Given the description of an element on the screen output the (x, y) to click on. 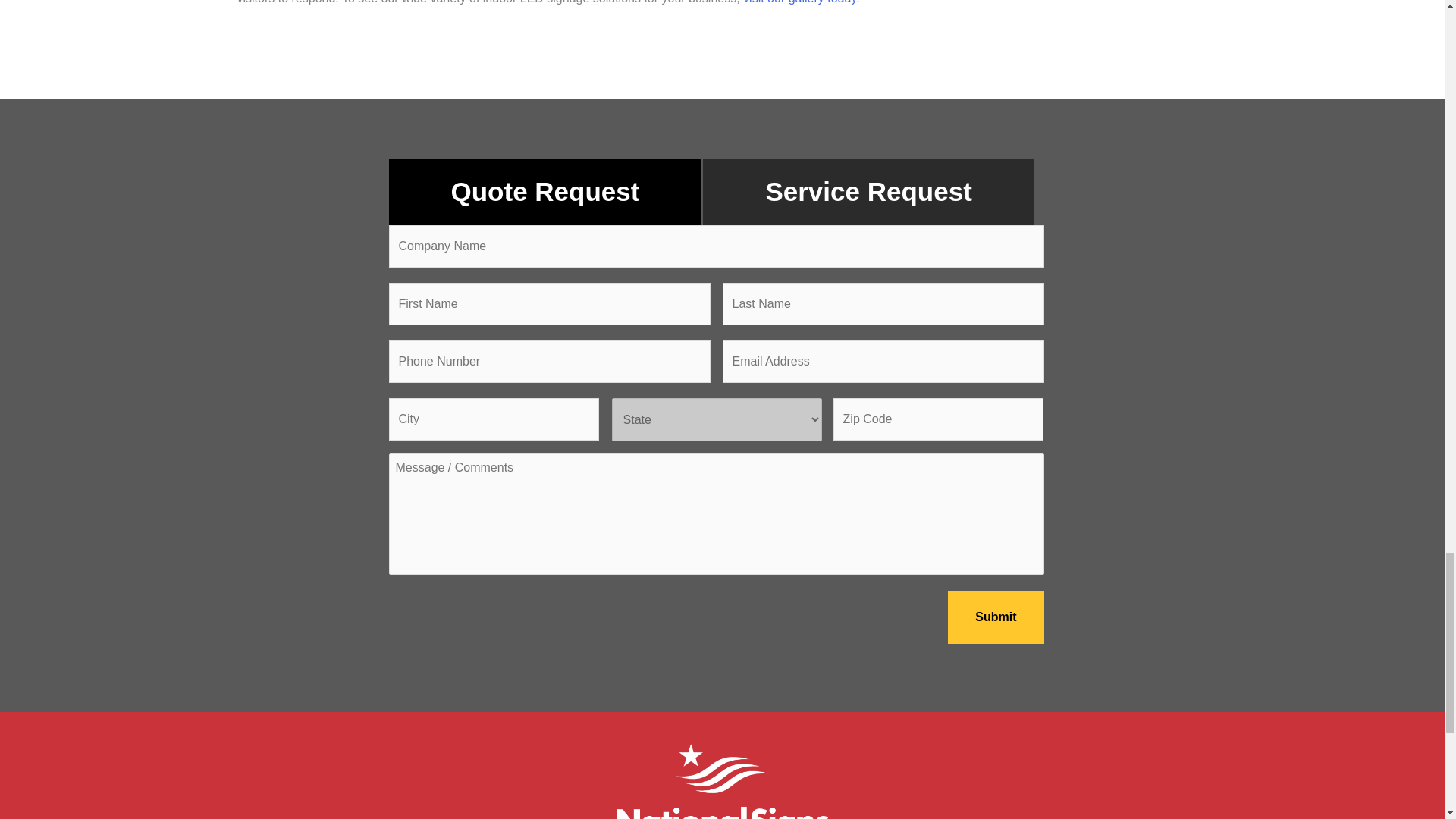
Submit (995, 616)
